Given the description of an element on the screen output the (x, y) to click on. 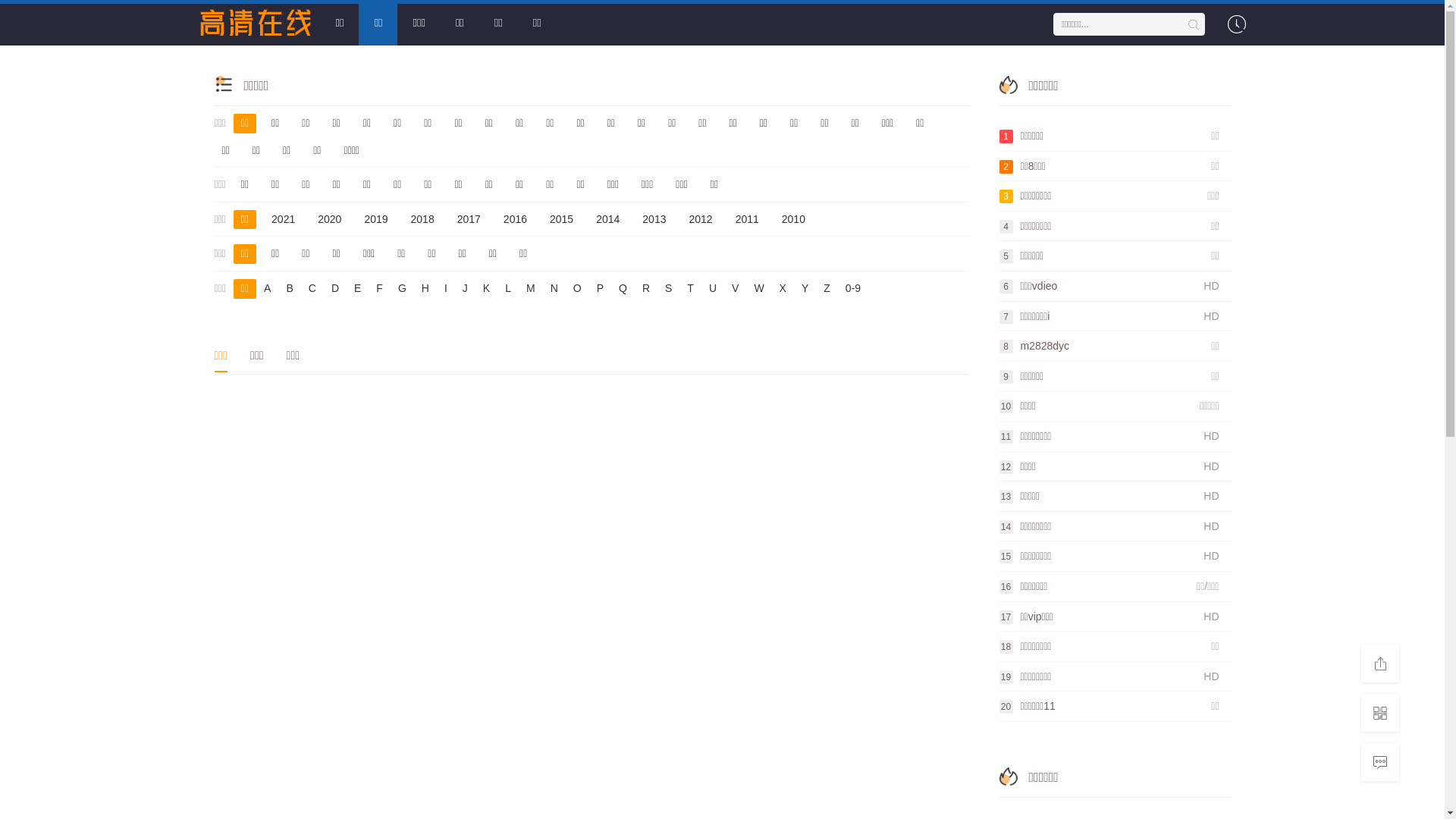
H Element type: text (425, 288)
W Element type: text (758, 288)
R Element type: text (645, 288)
2020 Element type: text (329, 219)
I Element type: text (445, 288)
T Element type: text (690, 288)
Y Element type: text (804, 288)
0-9 Element type: text (852, 288)
E Element type: text (357, 288)
2018 Element type: text (422, 219)
P Element type: text (600, 288)
2019 Element type: text (375, 219)
O Element type: text (577, 288)
2017 Element type: text (468, 219)
M Element type: text (530, 288)
K Element type: text (486, 288)
F Element type: text (379, 288)
2016 Element type: text (514, 219)
2014 Element type: text (607, 219)
B Element type: text (289, 288)
D Element type: text (334, 288)
2013 Element type: text (653, 219)
2010 Element type: text (793, 219)
2015 Element type: text (561, 219)
L Element type: text (507, 288)
2011 Element type: text (747, 219)
2012 Element type: text (699, 219)
Q Element type: text (622, 288)
G Element type: text (402, 288)
U Element type: text (712, 288)
N Element type: text (553, 288)
V Element type: text (735, 288)
C Element type: text (312, 288)
A Element type: text (267, 288)
Z Element type: text (826, 288)
J Element type: text (465, 288)
S Element type: text (668, 288)
X Element type: text (782, 288)
2021 Element type: text (282, 219)
